Given the description of an element on the screen output the (x, y) to click on. 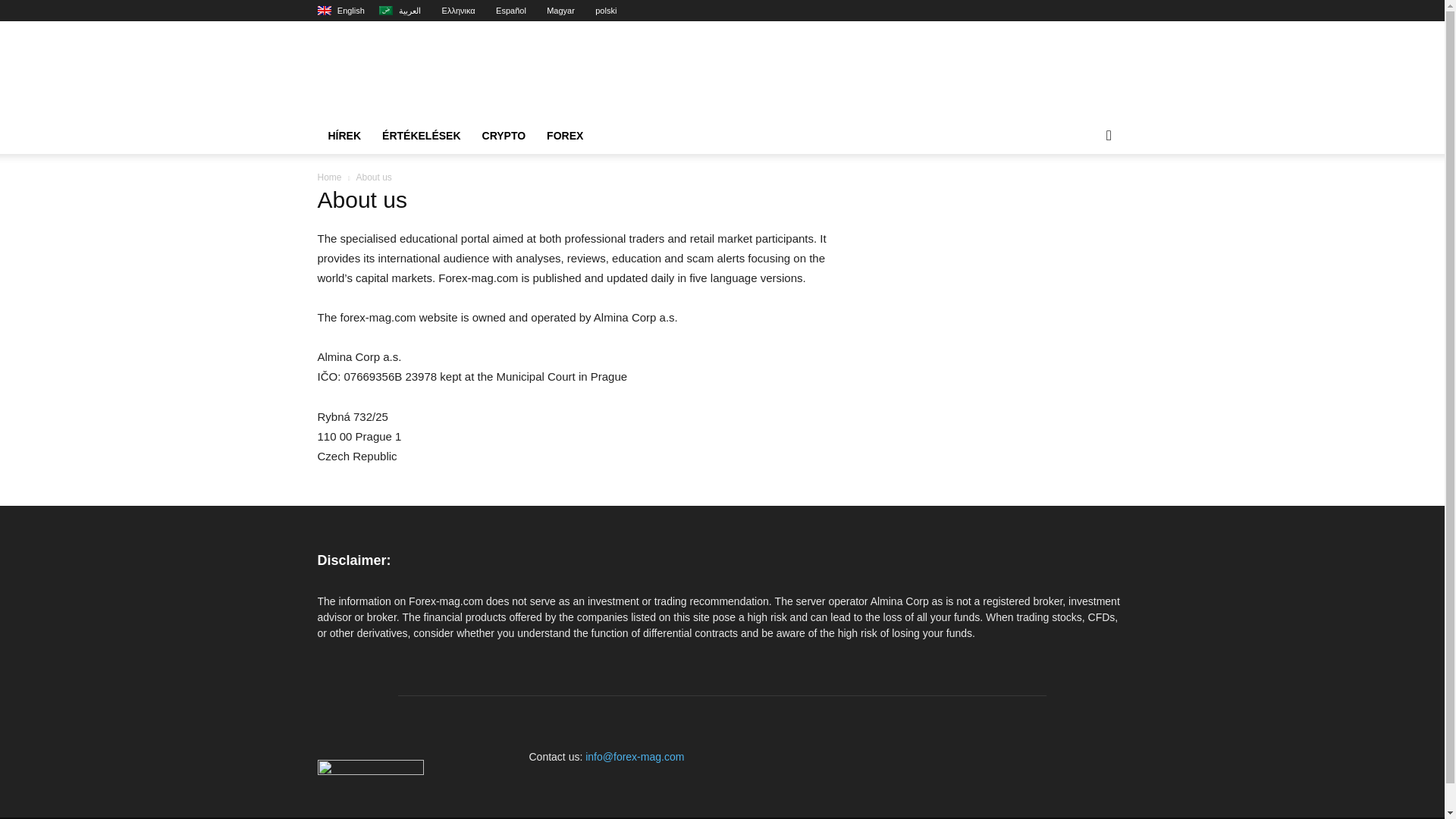
polski (602, 10)
Search (1085, 196)
English (340, 11)
CRYPTO (504, 135)
FOREX (564, 135)
Magyar (557, 10)
English (340, 11)
Magyar (557, 10)
polski (602, 10)
Home (328, 176)
